Given the description of an element on the screen output the (x, y) to click on. 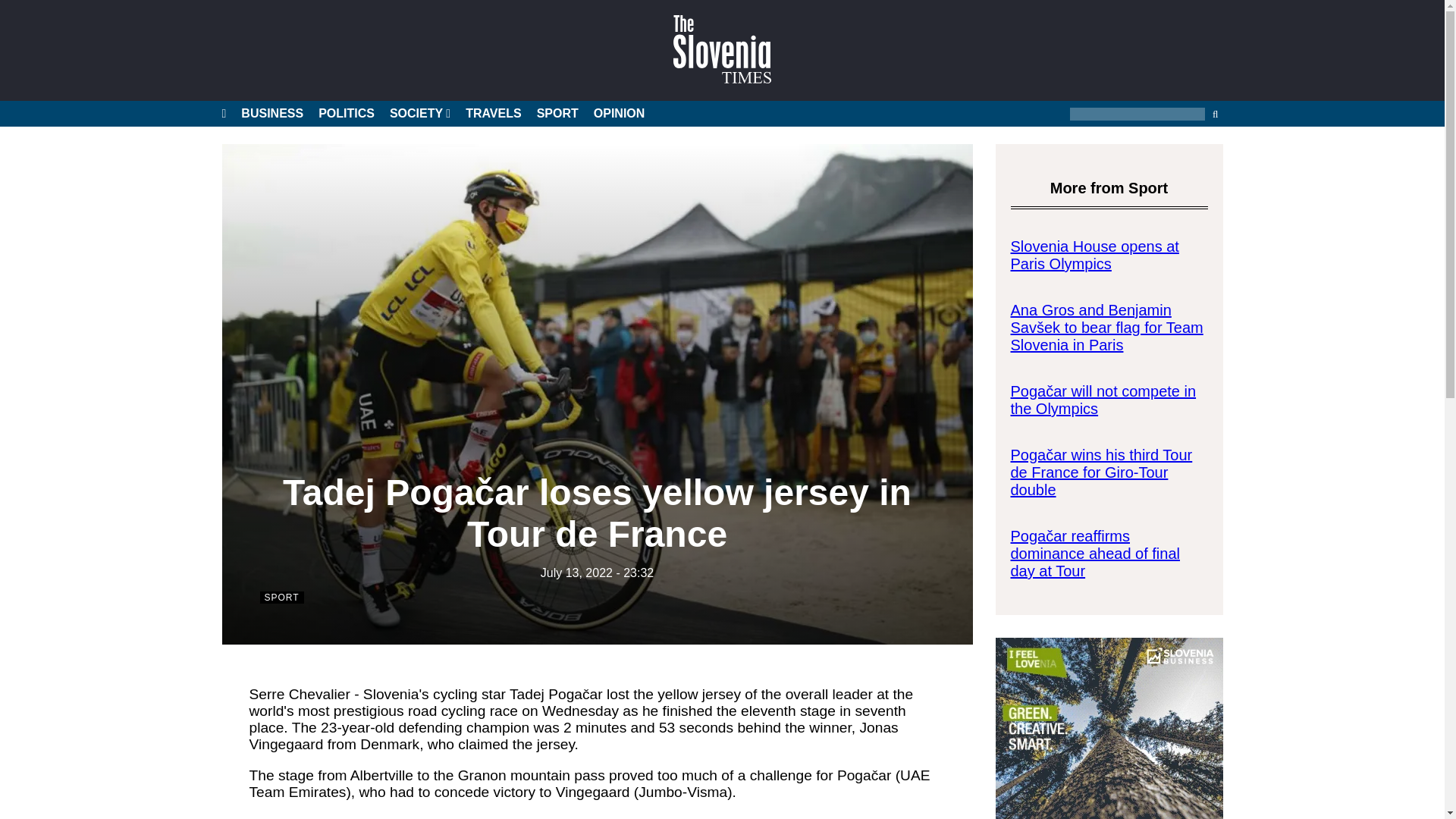
TRAVELS (493, 113)
POLITICS (346, 113)
OPINION (619, 113)
Slovenia House opens at Paris Olympics (1093, 254)
SPORT (557, 113)
BUSINESS (271, 113)
